Given the description of an element on the screen output the (x, y) to click on. 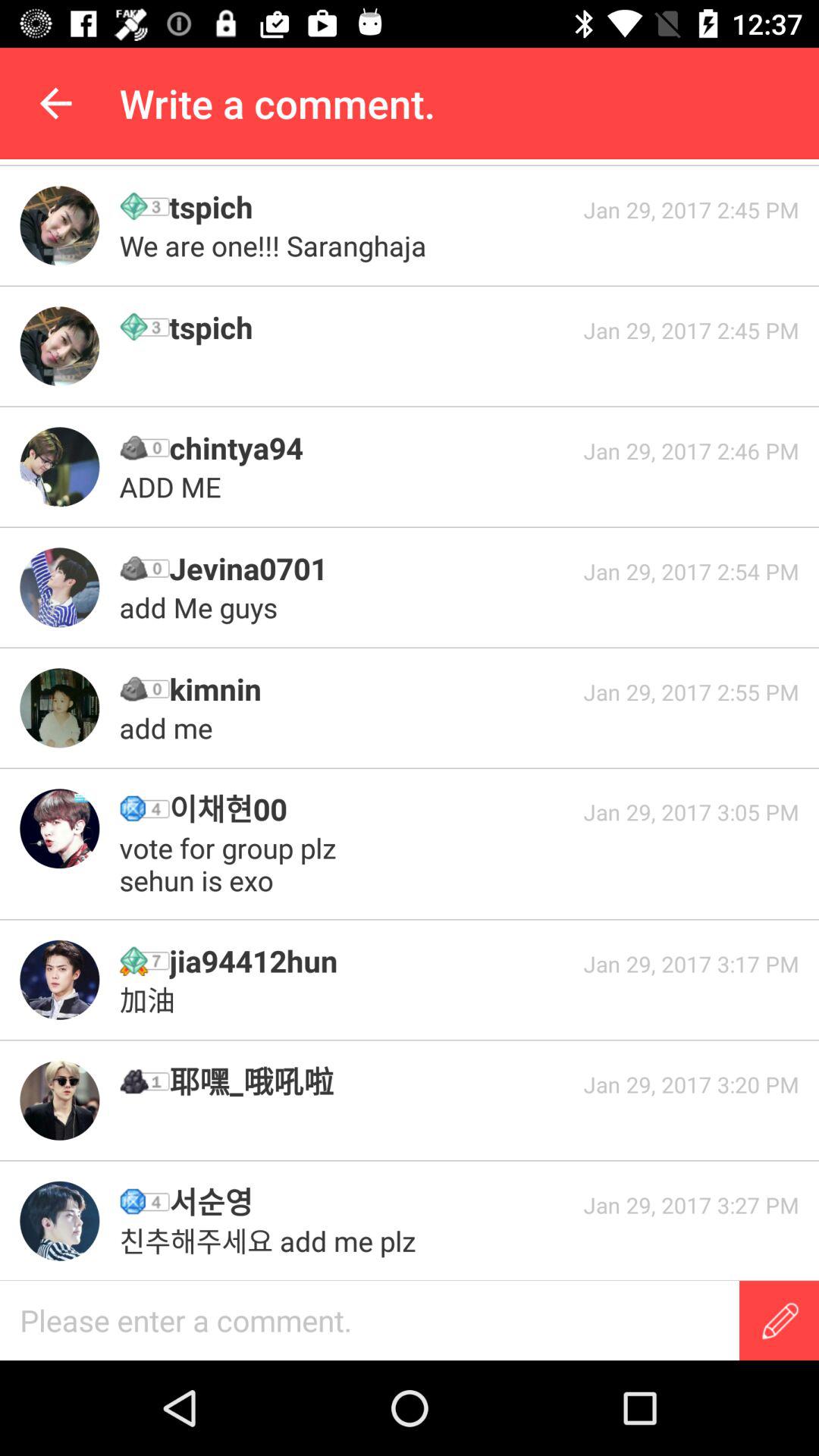
flip to jevina0701 (371, 568)
